Given the description of an element on the screen output the (x, y) to click on. 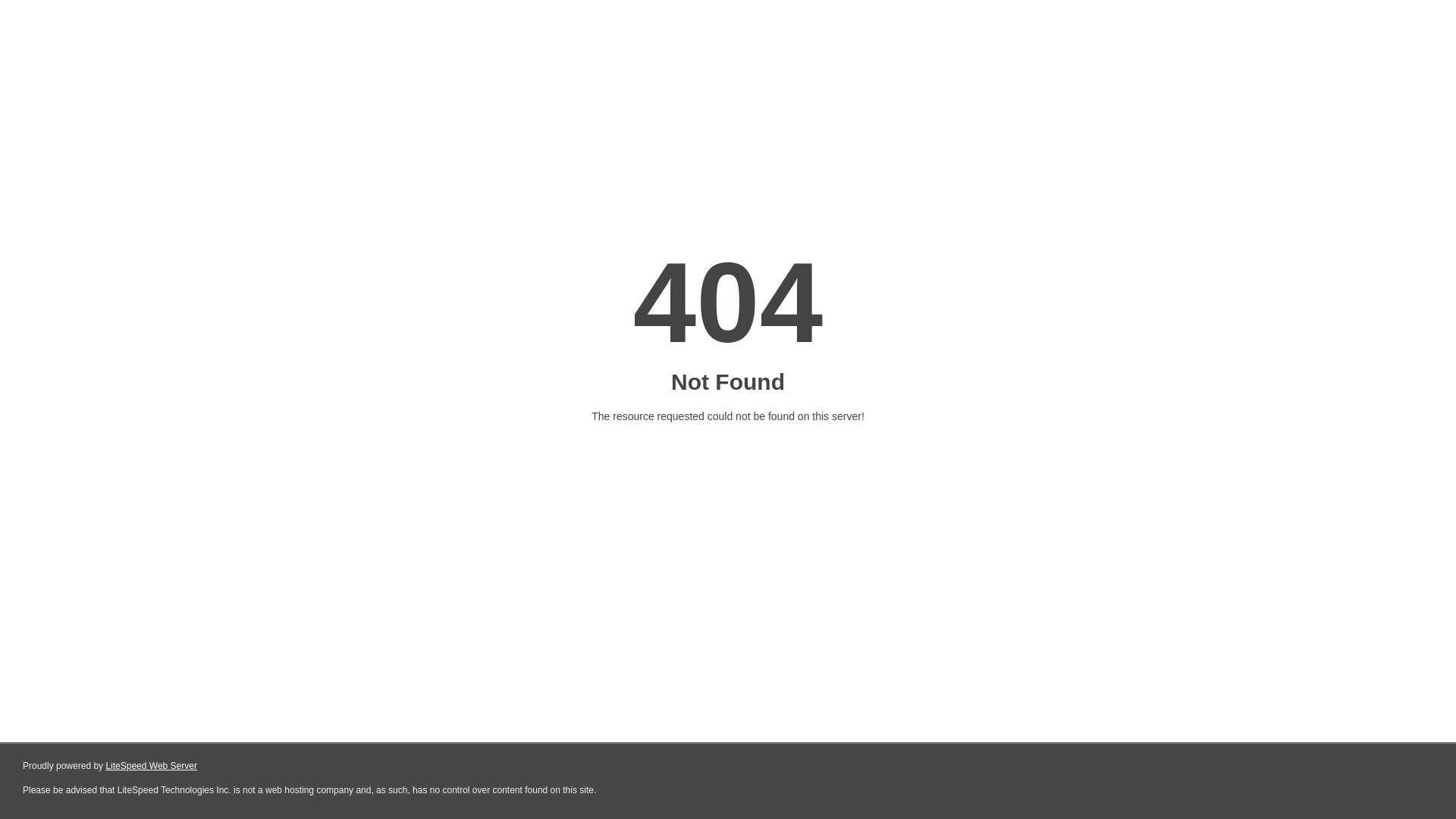
LiteSpeed Web Server Element type: text (151, 765)
